Given the description of an element on the screen output the (x, y) to click on. 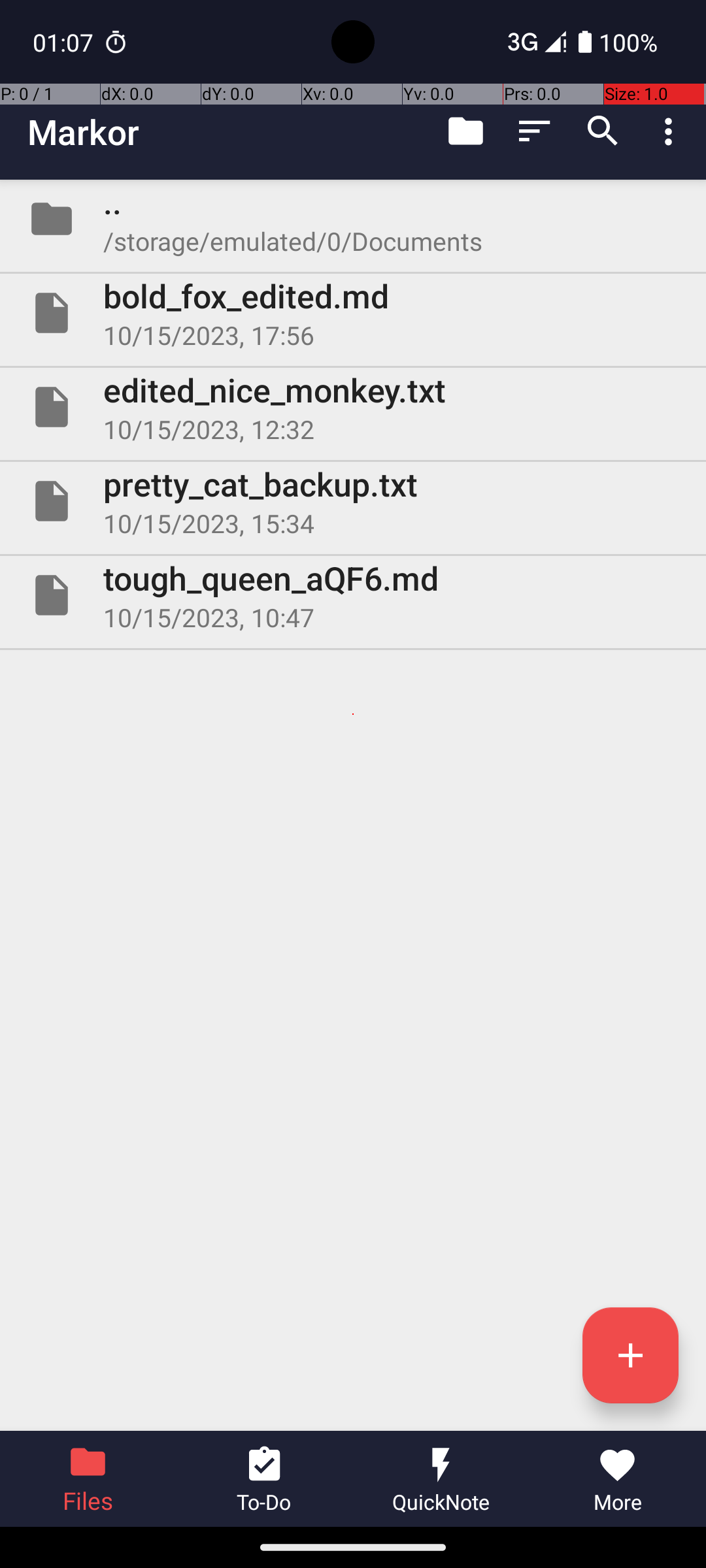
File bold_fox_edited.md  Element type: android.widget.LinearLayout (353, 312)
File edited_nice_monkey.txt  Element type: android.widget.LinearLayout (353, 406)
File pretty_cat_backup.txt  Element type: android.widget.LinearLayout (353, 500)
File tough_queen_aQF6.md  Element type: android.widget.LinearLayout (353, 594)
01:07 Element type: android.widget.TextView (64, 41)
